Given the description of an element on the screen output the (x, y) to click on. 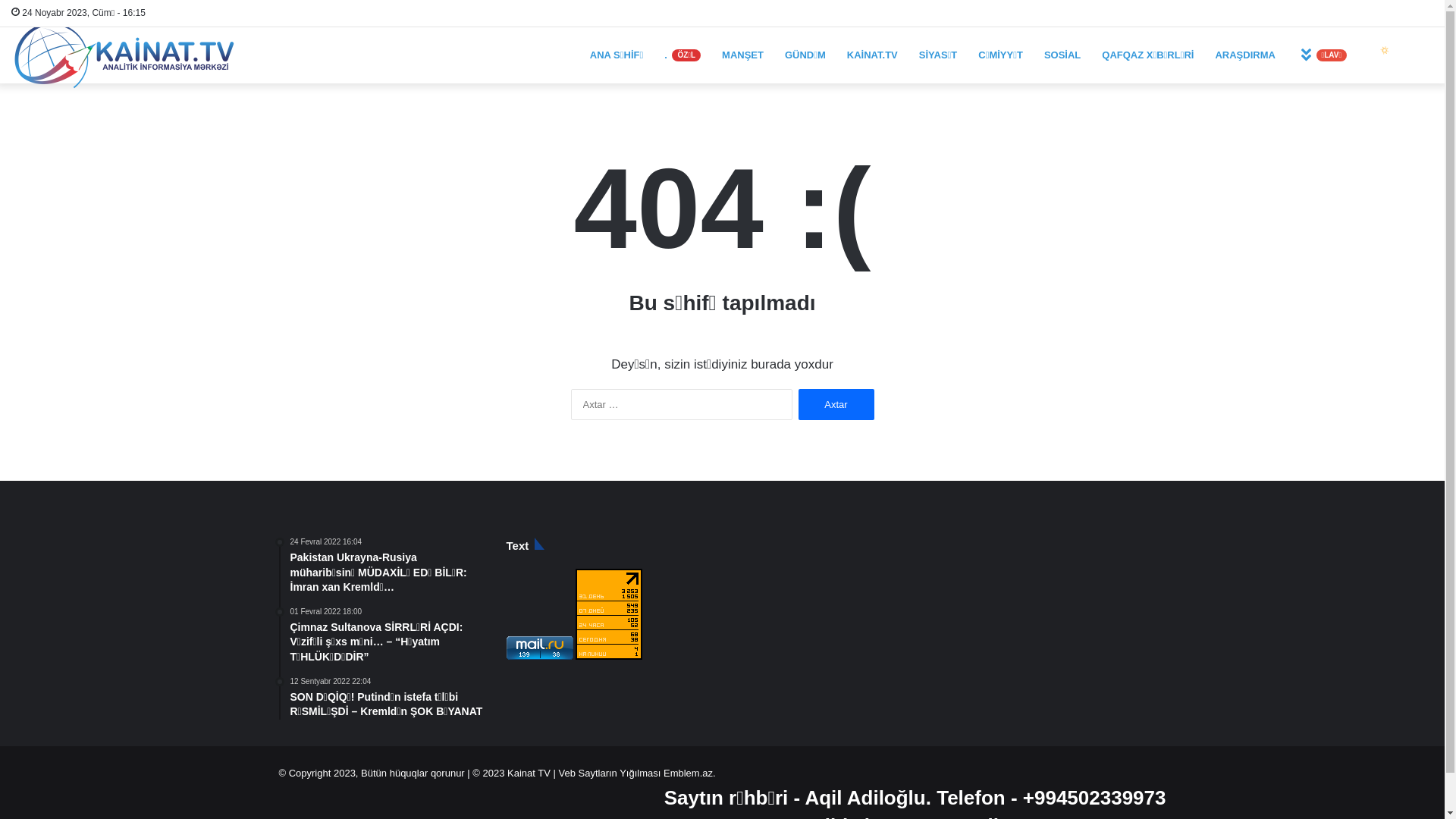
Emblem.az Element type: text (686, 772)
KAINAT.TV Element type: text (872, 54)
LiveInternet: number of visitors and pageviews is shown Element type: hover (608, 613)
Kainat TV Element type: text (528, 772)
Axtar Element type: text (835, 404)
